Given the description of an element on the screen output the (x, y) to click on. 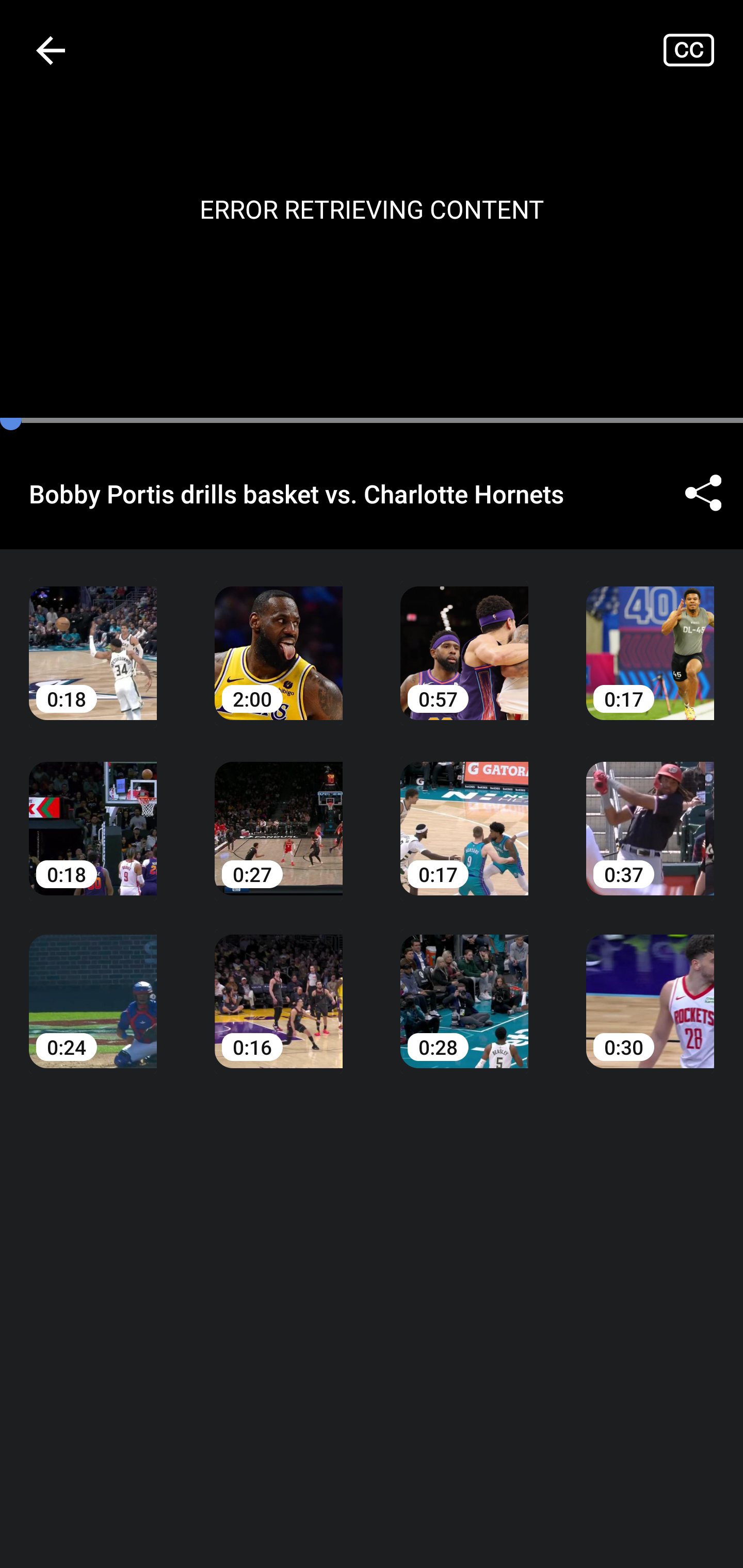
Navigate up (50, 50)
Closed captions  (703, 49)
Share © (703, 493)
0:18 (92, 637)
2:00 (278, 637)
0:57 (464, 637)
0:17 (650, 637)
0:18 (92, 813)
0:27 (278, 813)
0:17 (464, 813)
0:37 (650, 813)
0:24 (92, 987)
0:16 (278, 987)
0:28 (464, 987)
0:30 (650, 987)
